Given the description of an element on the screen output the (x, y) to click on. 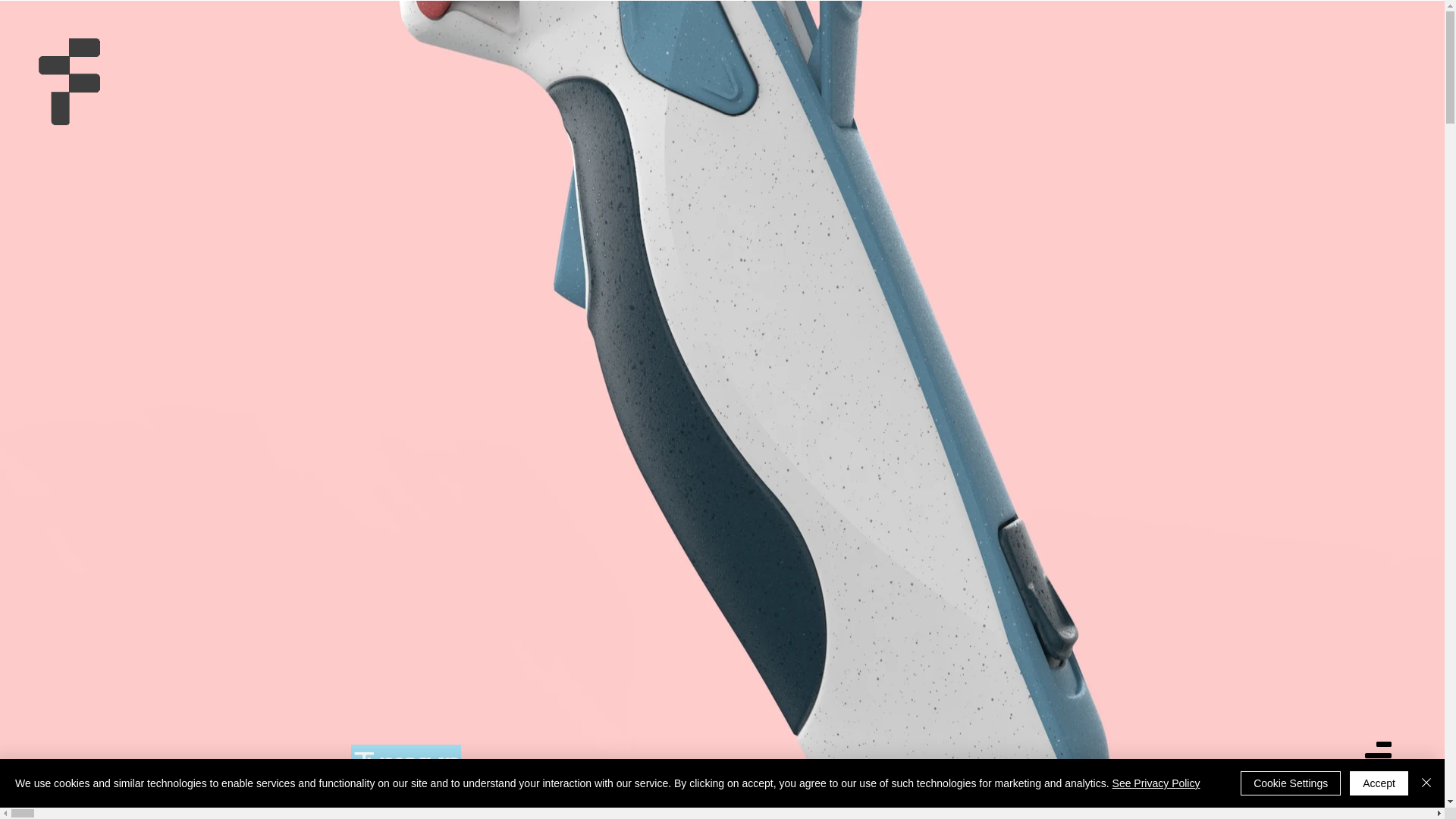
Accept (1378, 783)
See Privacy Policy (1155, 783)
Cookie Settings (1290, 783)
